Given the description of an element on the screen output the (x, y) to click on. 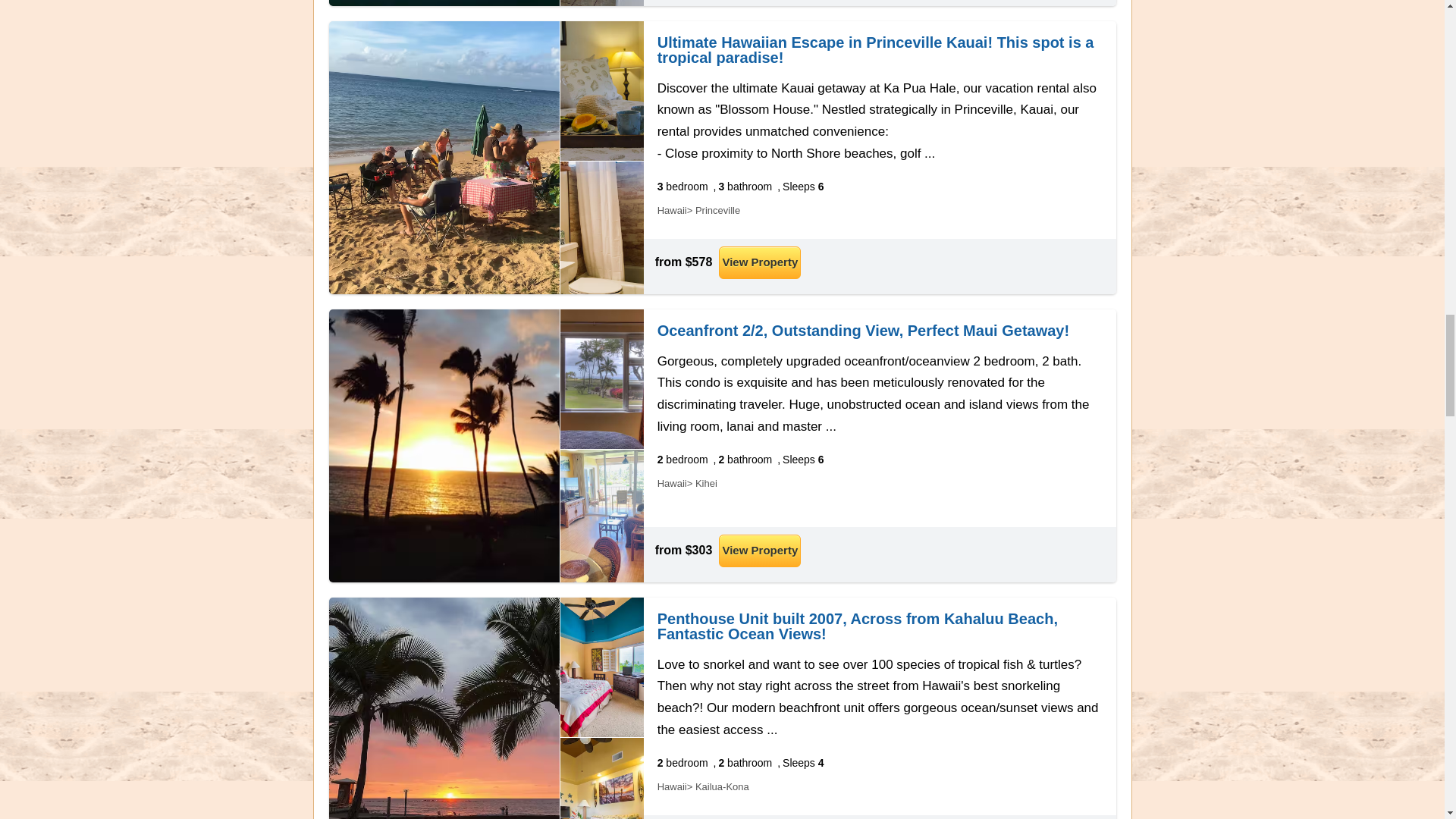
View Property (759, 262)
View Property (759, 550)
